Given the description of an element on the screen output the (x, y) to click on. 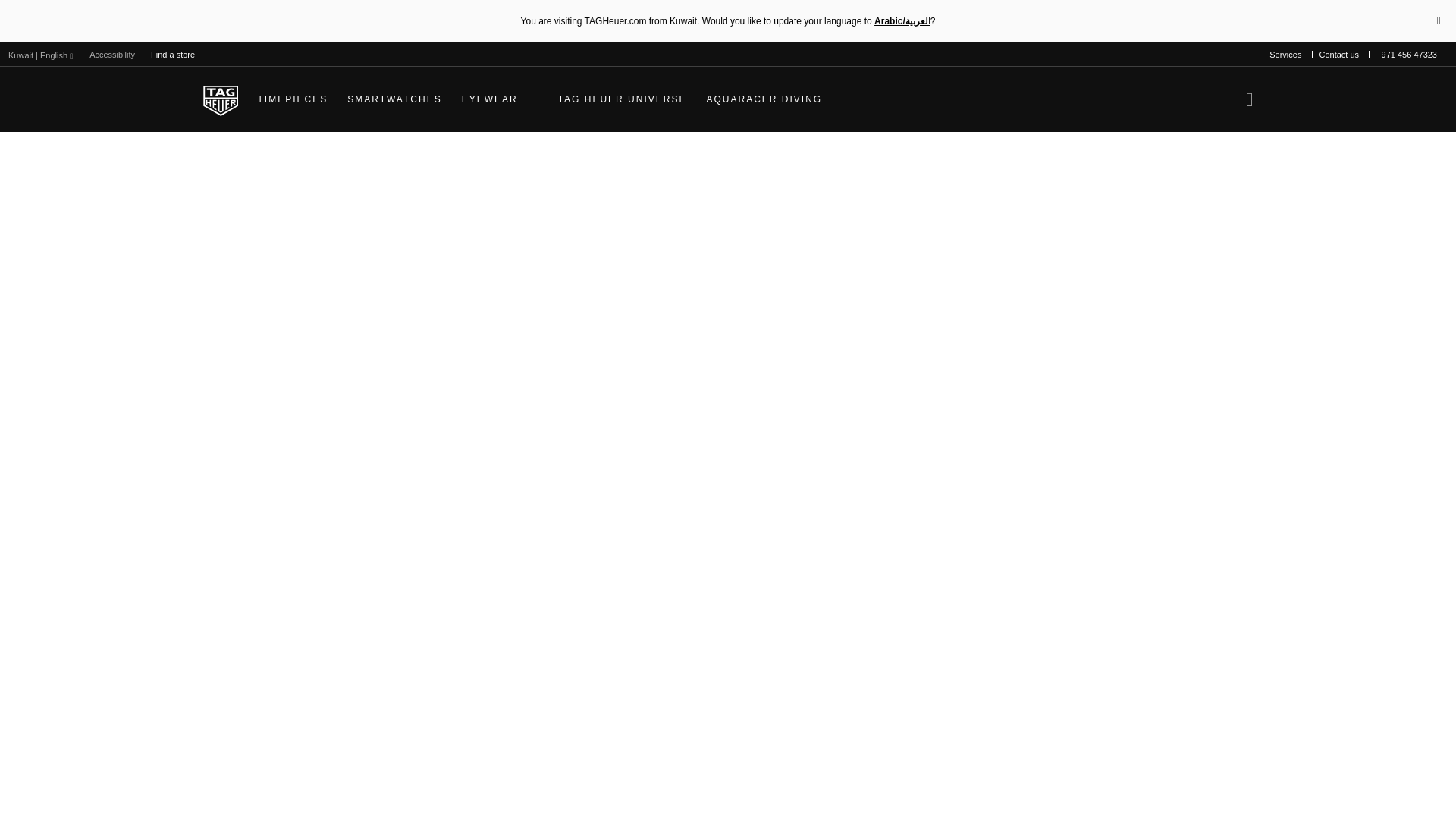
Find a store (172, 54)
Services (1285, 54)
Contact us (1339, 54)
Accessibility (111, 54)
